Given the description of an element on the screen output the (x, y) to click on. 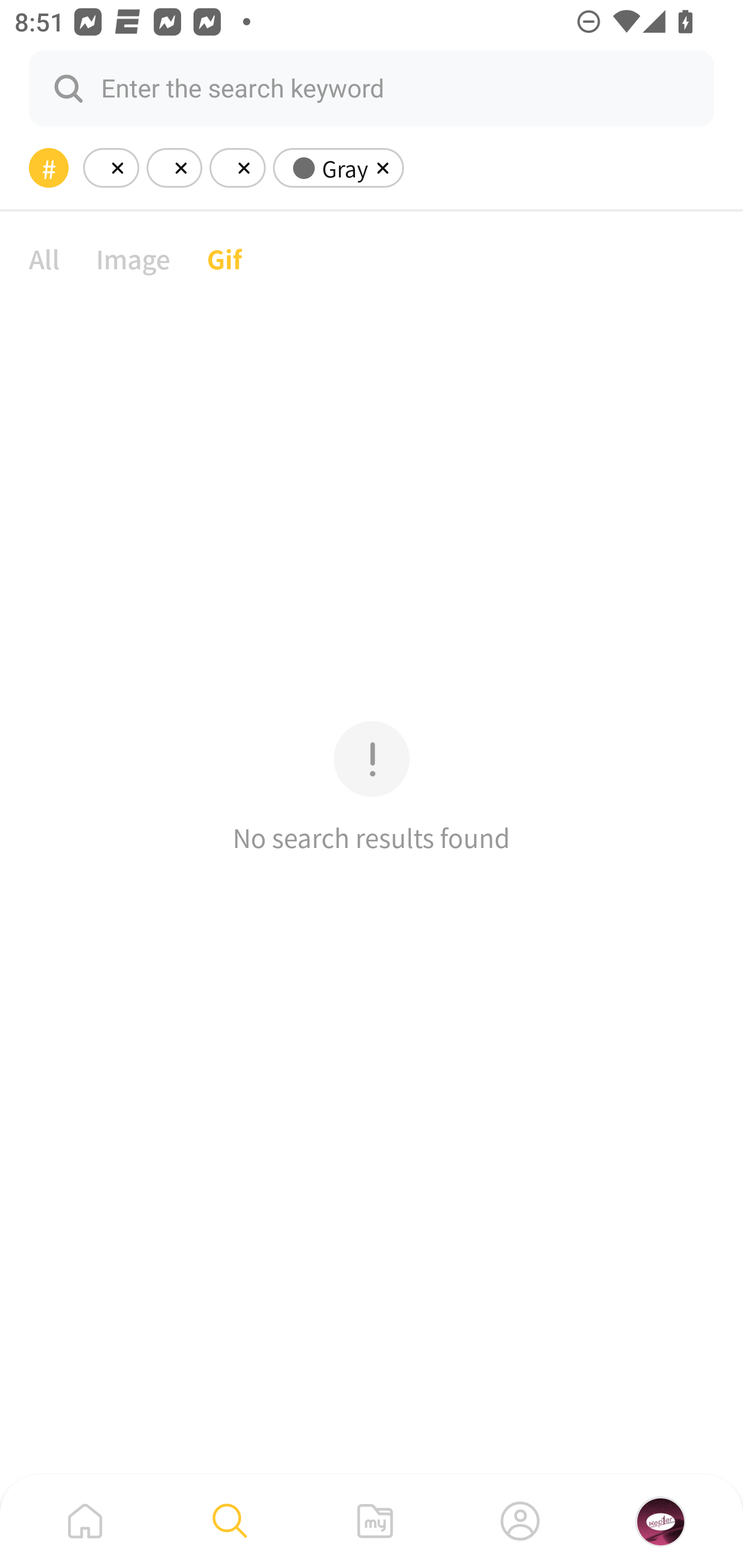
All (44, 257)
Image (132, 257)
Gif (224, 257)
